Given the description of an element on the screen output the (x, y) to click on. 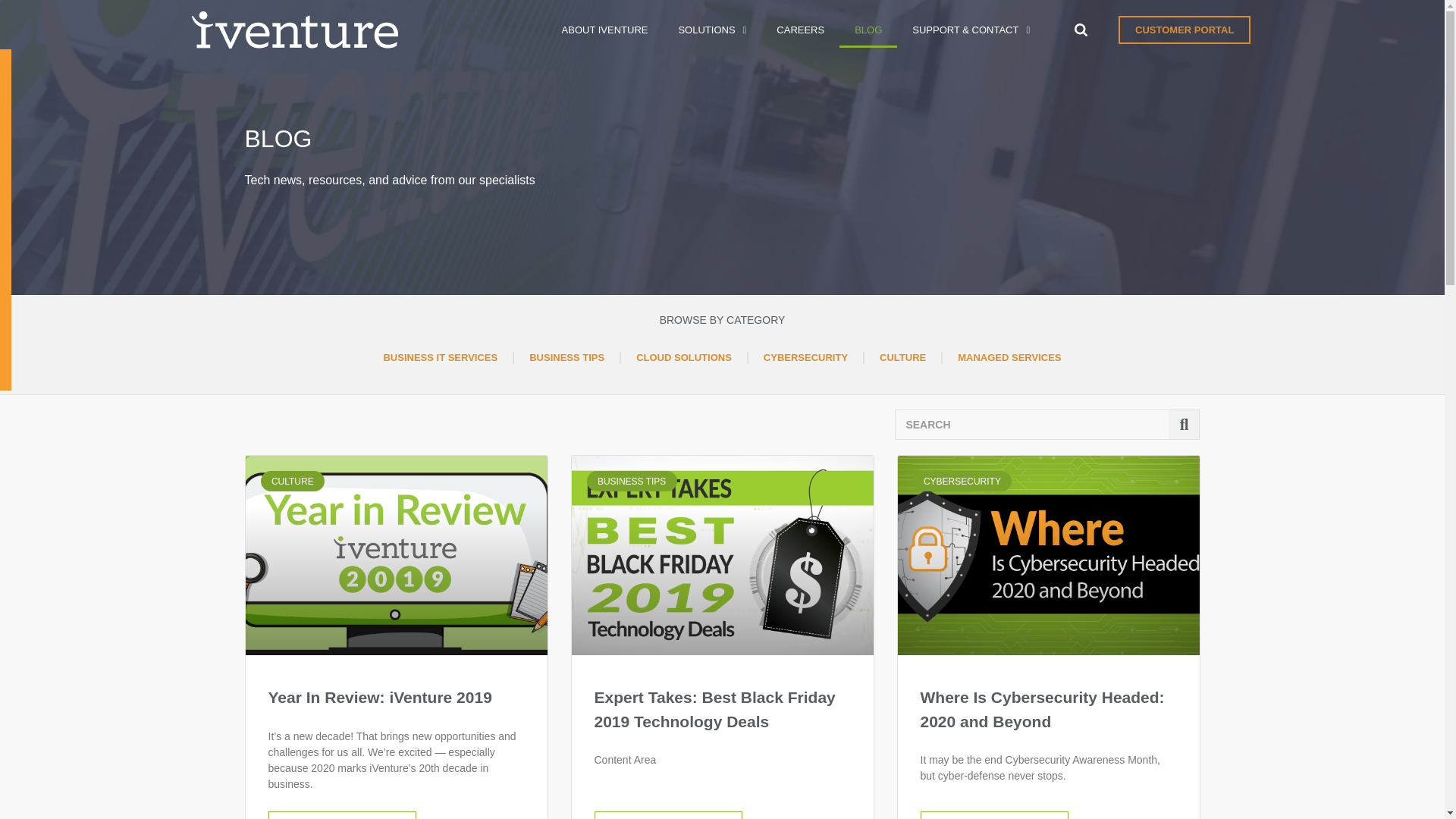
BLOG (868, 29)
SOLUTIONS (711, 29)
ABOUT IVENTURE (605, 29)
CAREERS (800, 29)
